Given the description of an element on the screen output the (x, y) to click on. 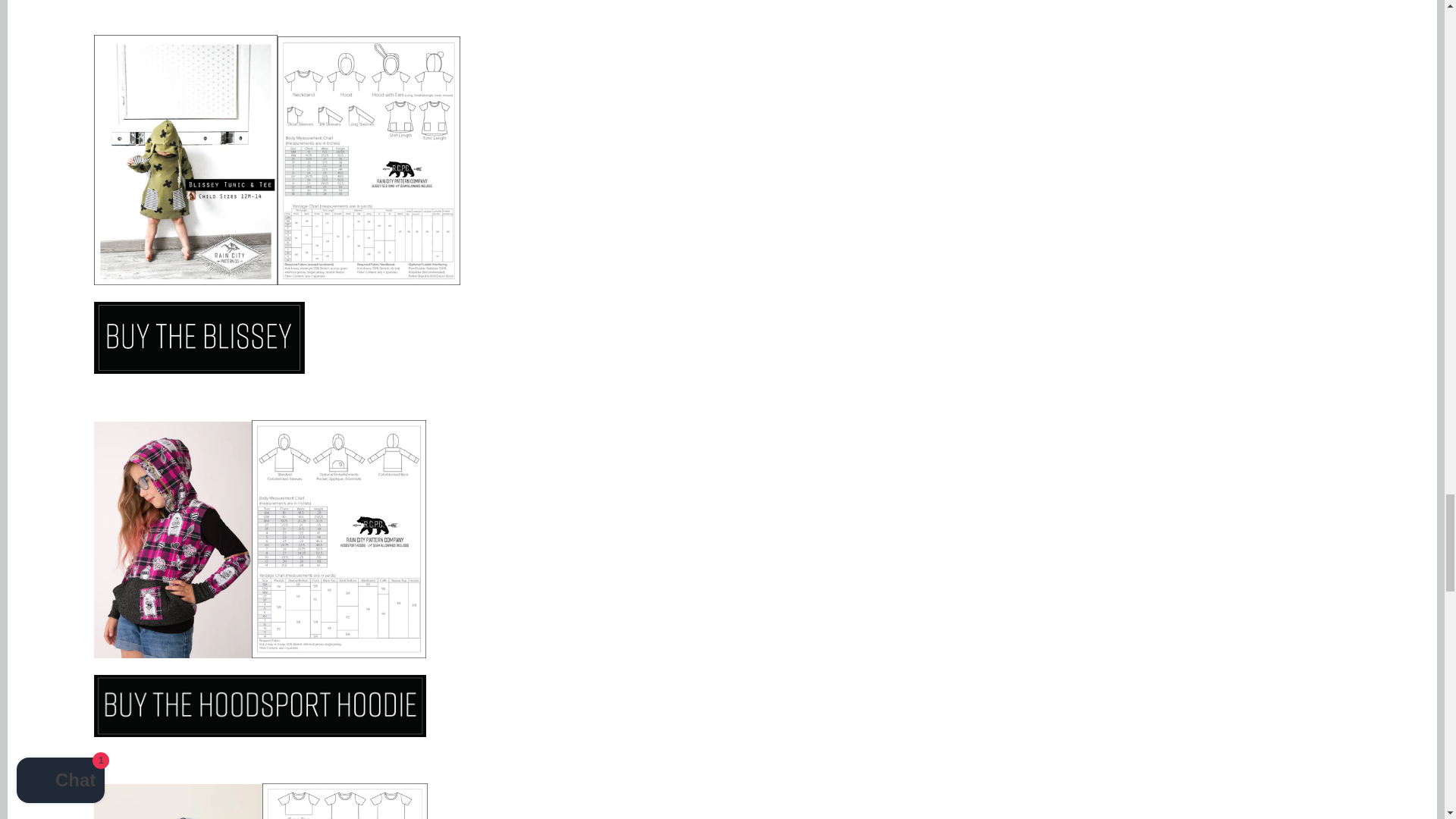
hoodsport hoodie pdf sewing pattern (260, 732)
Blissey Tunic and Top sewing pattern (199, 369)
